Given the description of an element on the screen output the (x, y) to click on. 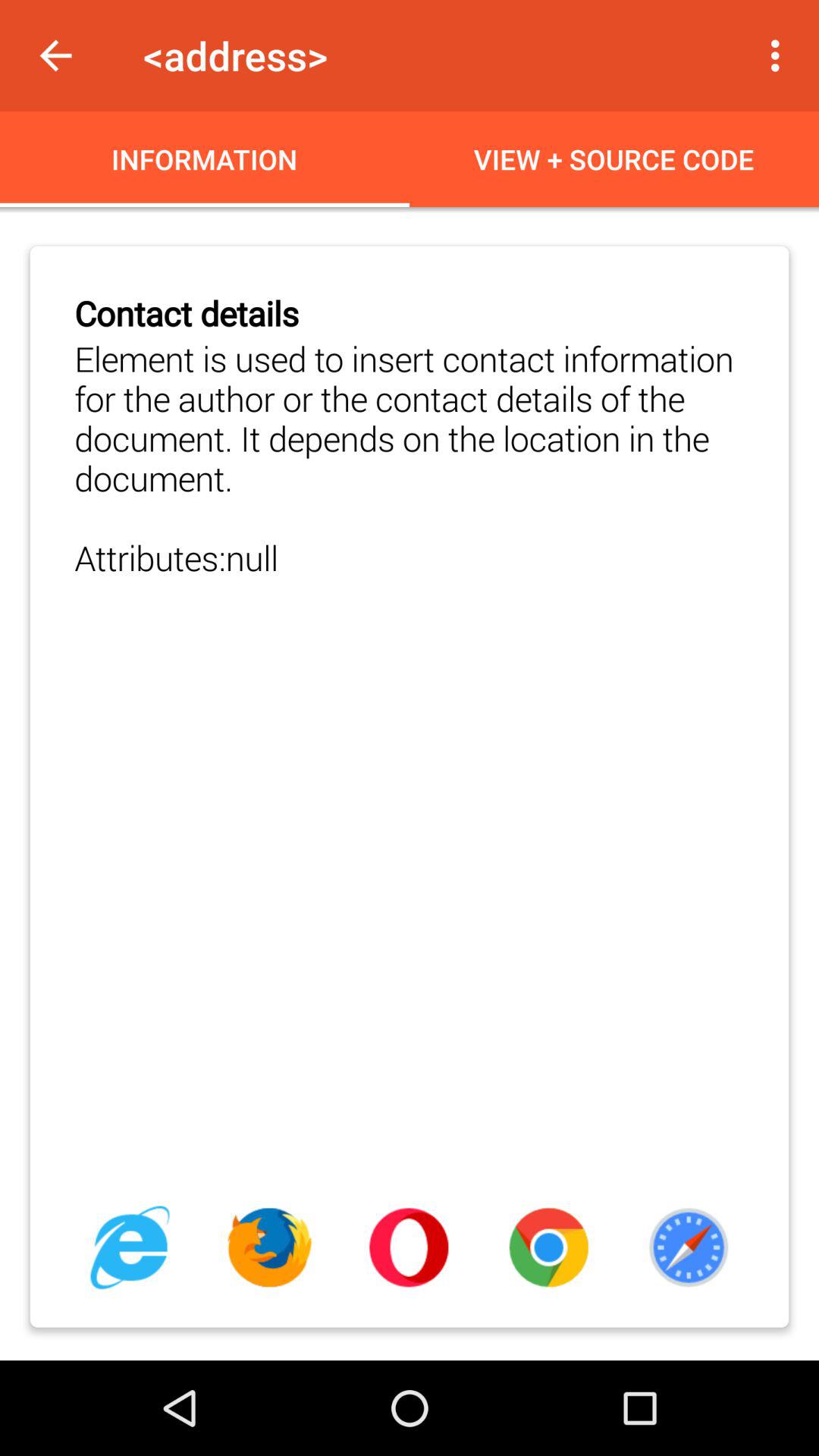
launch item next to <address> item (55, 55)
